Given the description of an element on the screen output the (x, y) to click on. 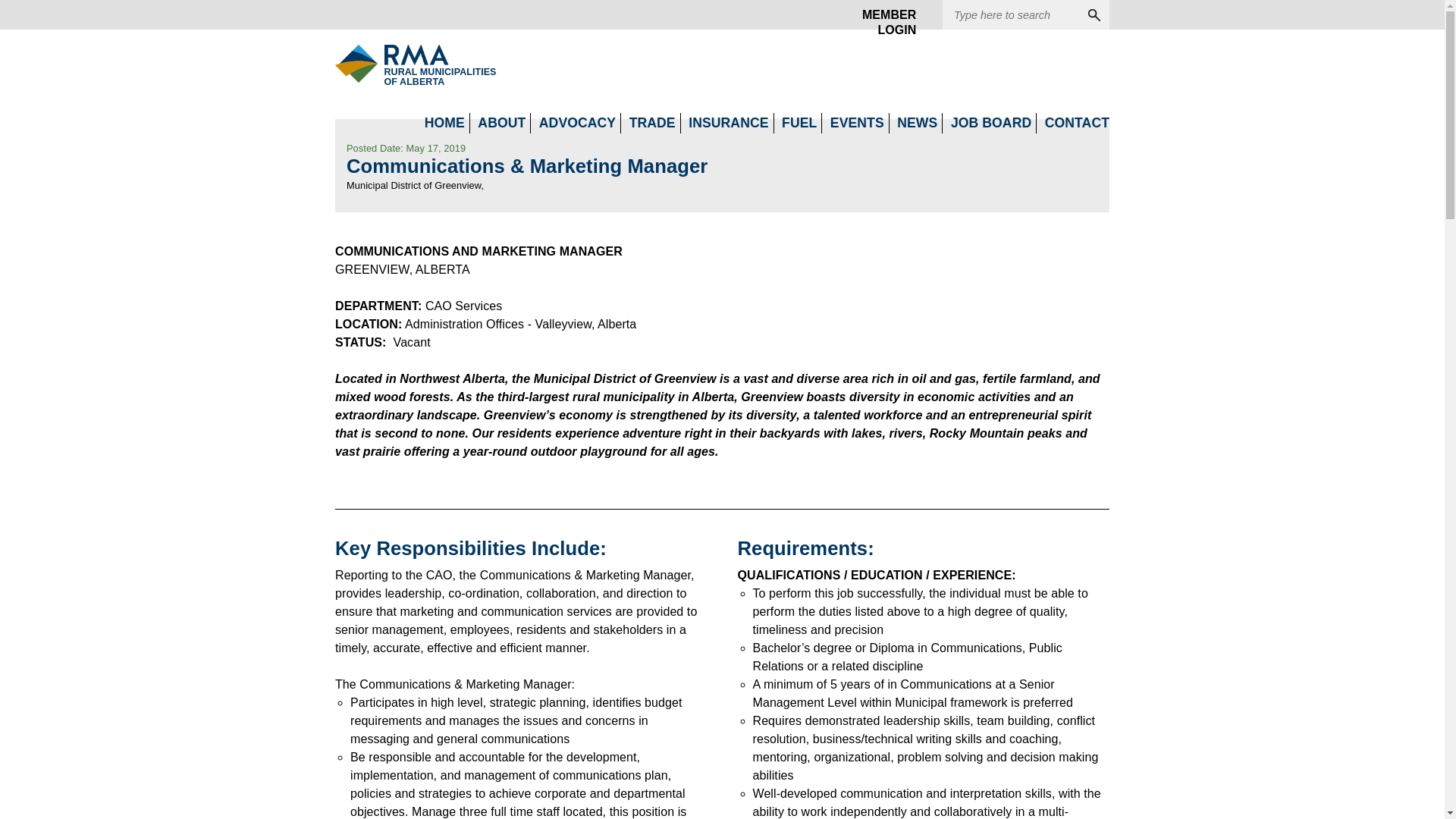
HOME (444, 122)
ADVOCACY (391, 63)
ABOUT (576, 122)
INSURANCE (501, 122)
TRADE (728, 122)
MEMBER LOGIN (651, 122)
